Given the description of an element on the screen output the (x, y) to click on. 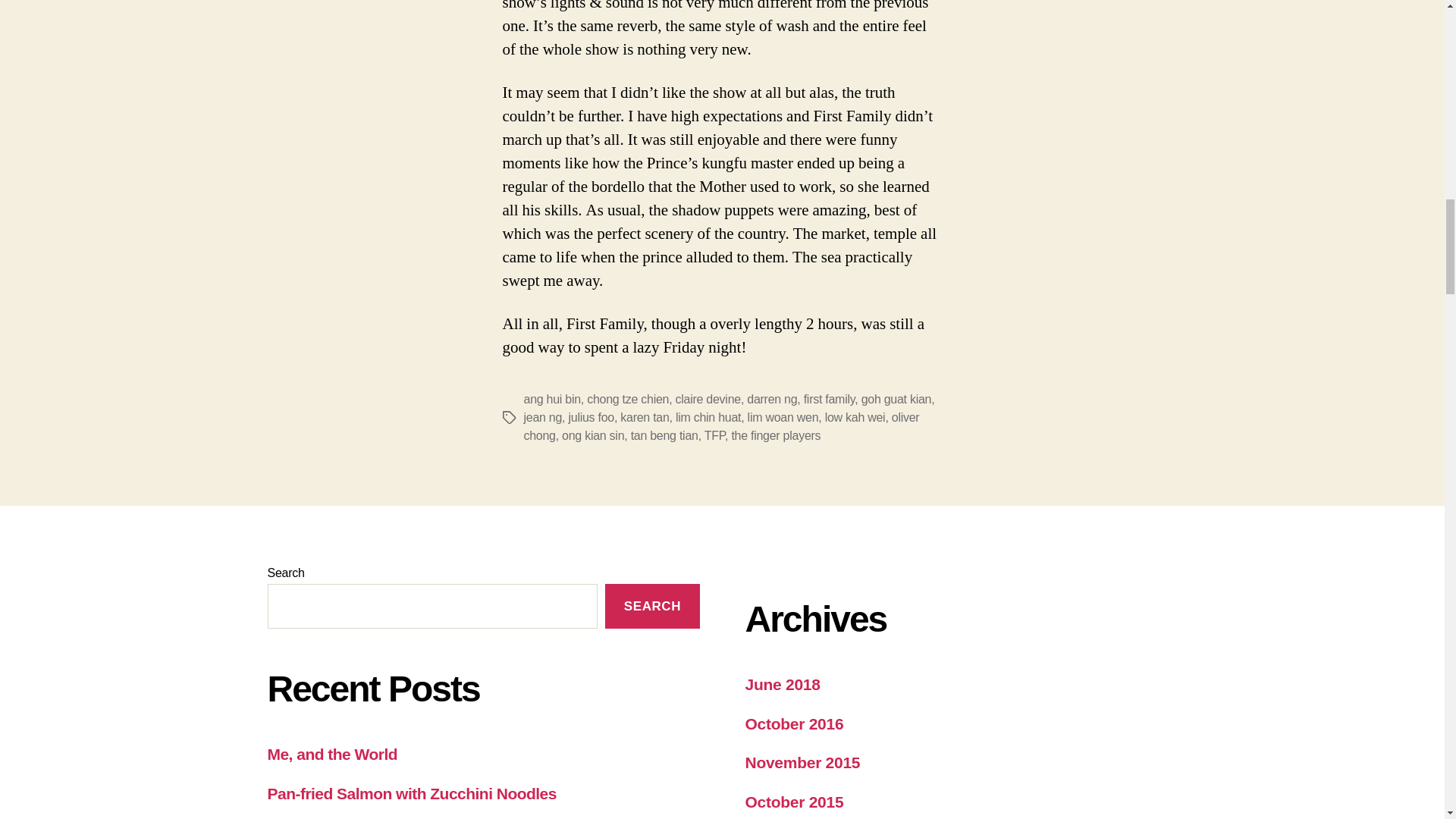
julius foo (589, 417)
jean ng (542, 417)
claire devine (708, 399)
lim woan wen (783, 417)
first family (829, 399)
lim chin huat (708, 417)
goh guat kian (896, 399)
low kah wei (855, 417)
karen tan (644, 417)
chong tze chien (627, 399)
ang hui bin (550, 399)
darren ng (771, 399)
